Given the description of an element on the screen output the (x, y) to click on. 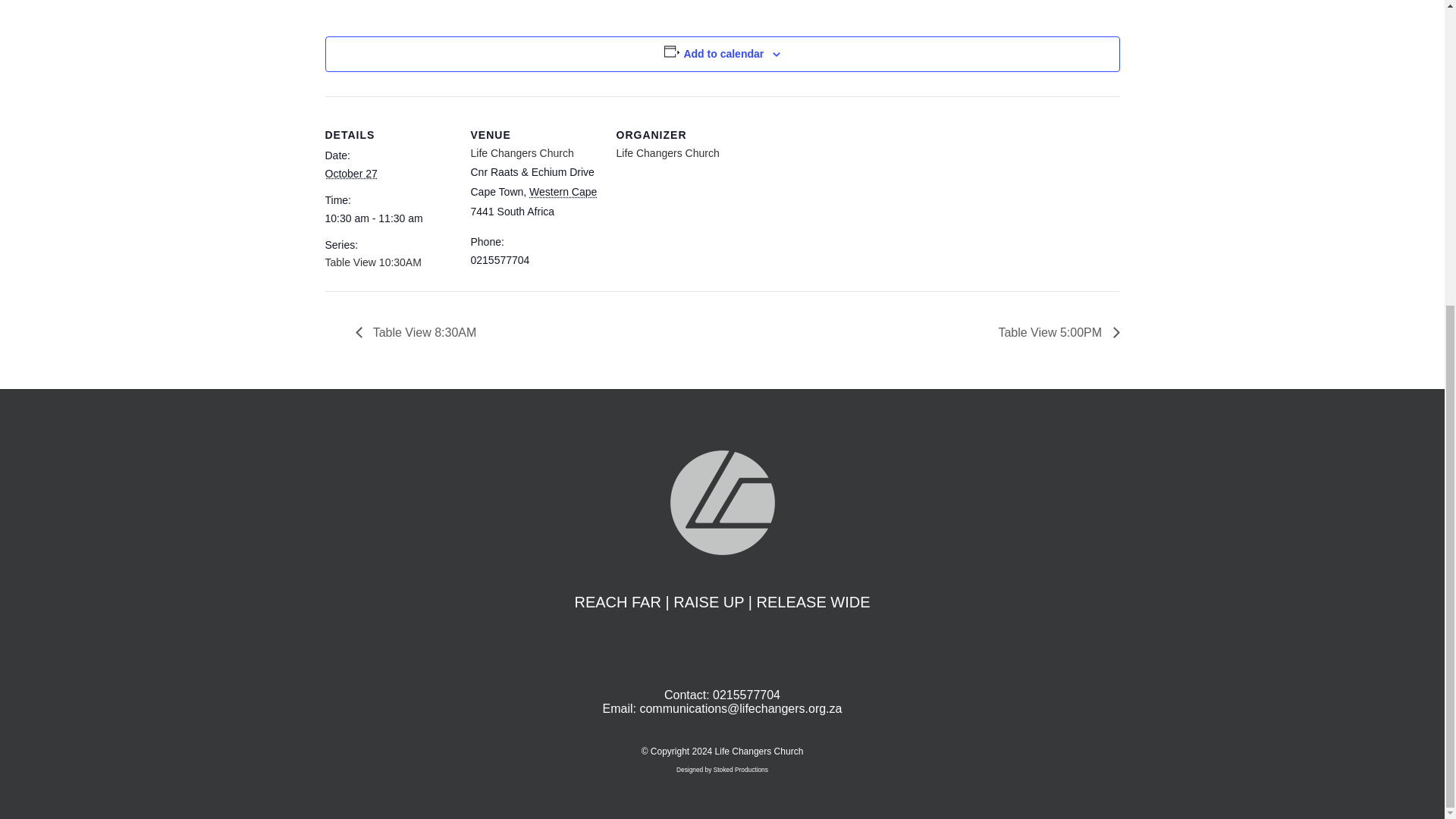
Table View 10:30AM (372, 262)
2024-10-27 (350, 173)
Table View 8:30AM (419, 332)
Table View 10:30AM (372, 262)
Stoked Productions (740, 769)
Table View 5:00PM (1054, 332)
2024-10-27 (387, 218)
Life Changers Church (521, 152)
Add to calendar (722, 53)
Life Changers Church (667, 152)
Western Cape (562, 191)
Life Changers Church (667, 152)
